Given the description of an element on the screen output the (x, y) to click on. 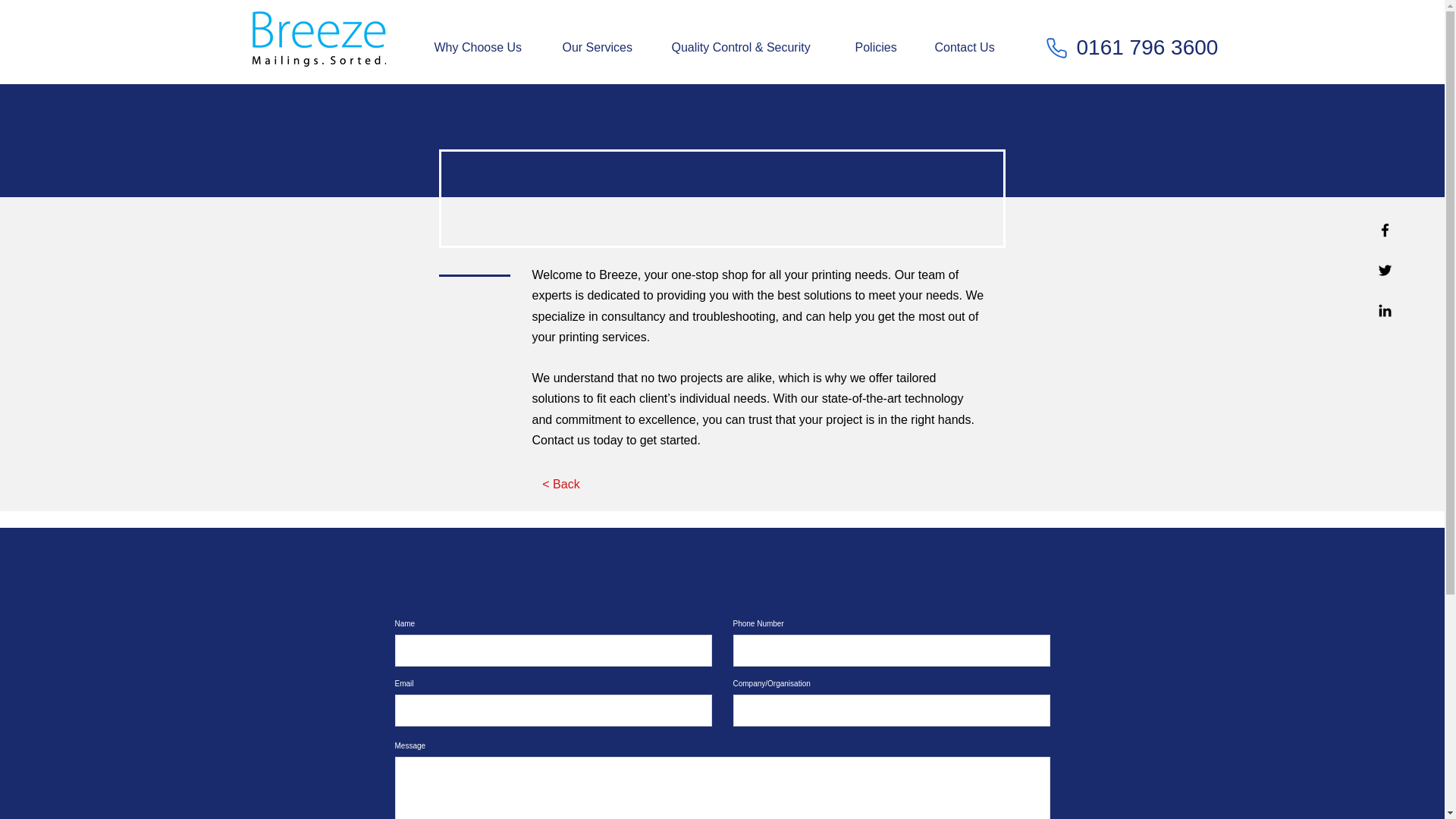
Our Services (604, 47)
Why Choose Us (487, 47)
0161 796 3600 (1147, 47)
Contact Us (972, 47)
